Given the description of an element on the screen output the (x, y) to click on. 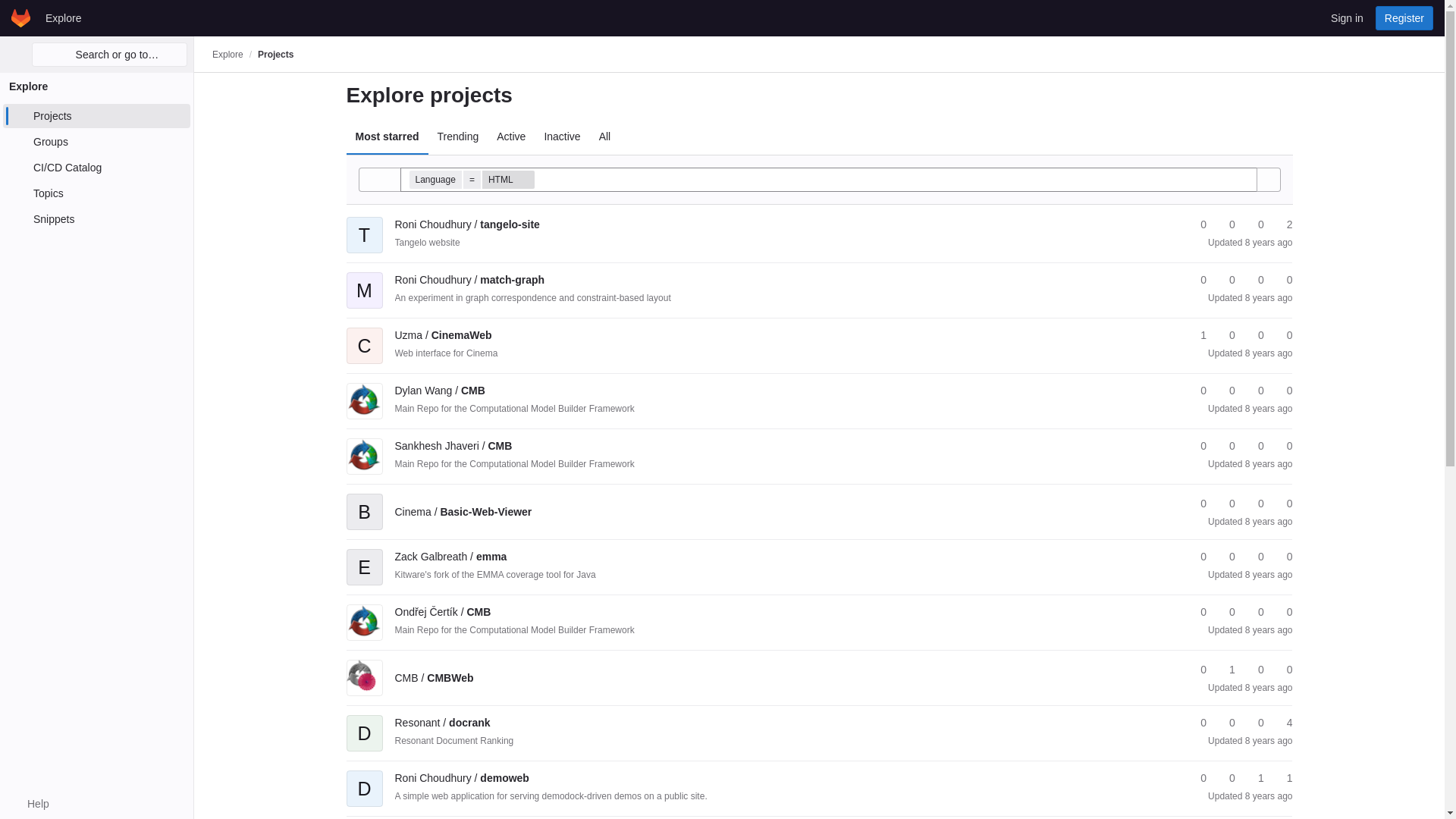
Issues (1282, 224)
Projects (96, 115)
T (363, 224)
tangelo-site (466, 224)
Help (30, 803)
Register (1403, 17)
Topics (96, 192)
Toggle history (379, 179)
Explore (227, 54)
Merge requests (1253, 279)
Most starred (387, 135)
Snippets (96, 218)
Homepage (20, 17)
Groups (96, 141)
Inactive (561, 135)
